Given the description of an element on the screen output the (x, y) to click on. 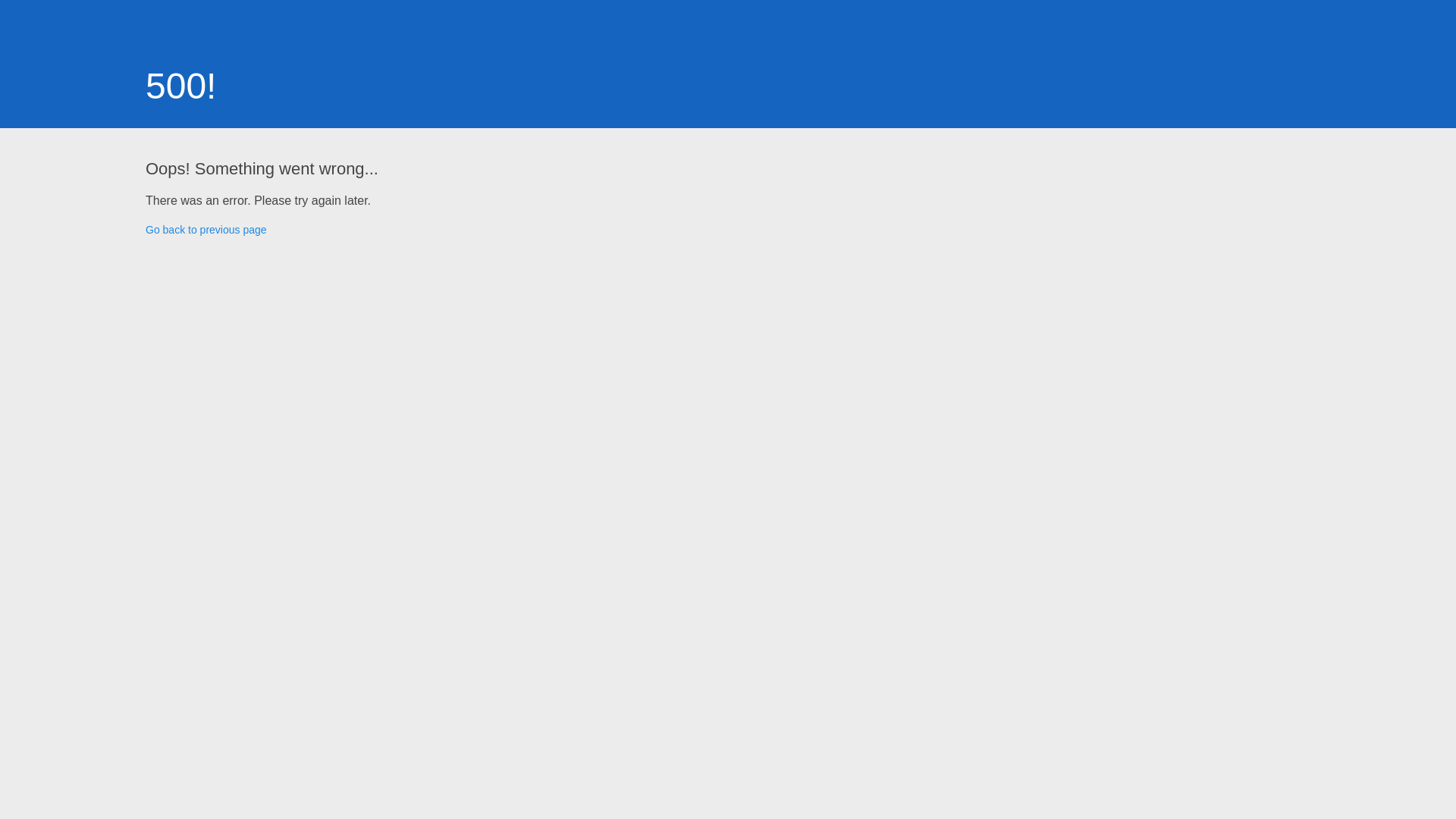
Go back to previous page Element type: text (205, 229)
